Given the description of an element on the screen output the (x, y) to click on. 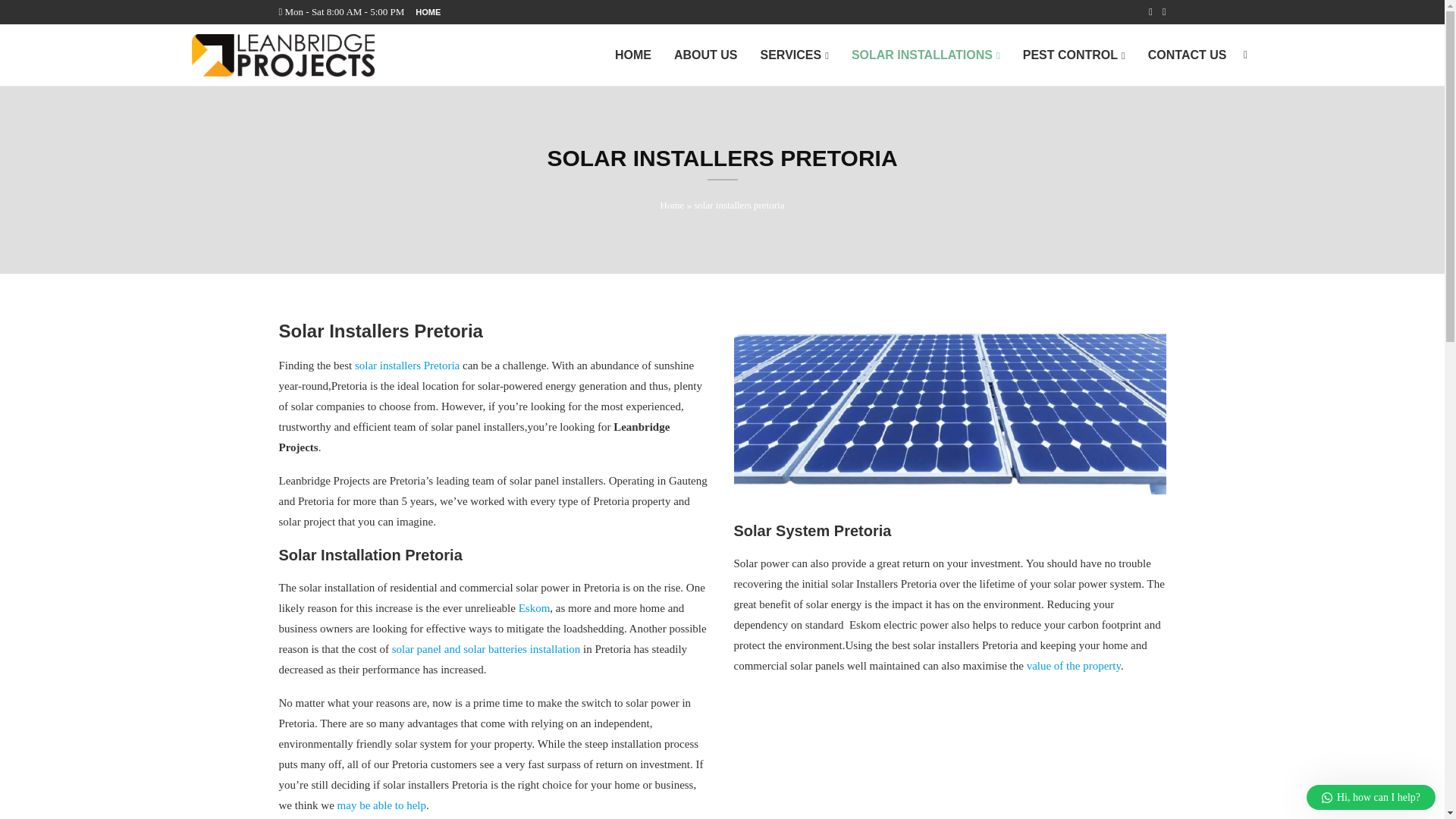
HOME (427, 12)
CONTACT US (1187, 55)
Eskom (534, 607)
PEST CONTROL (1074, 55)
SOLAR INSTALLATIONS (925, 55)
solar panel and solar batteries installation (485, 648)
solar installers Pretoria (407, 365)
SERVICES (794, 55)
ABOUT US (706, 55)
Home (672, 204)
